Given the description of an element on the screen output the (x, y) to click on. 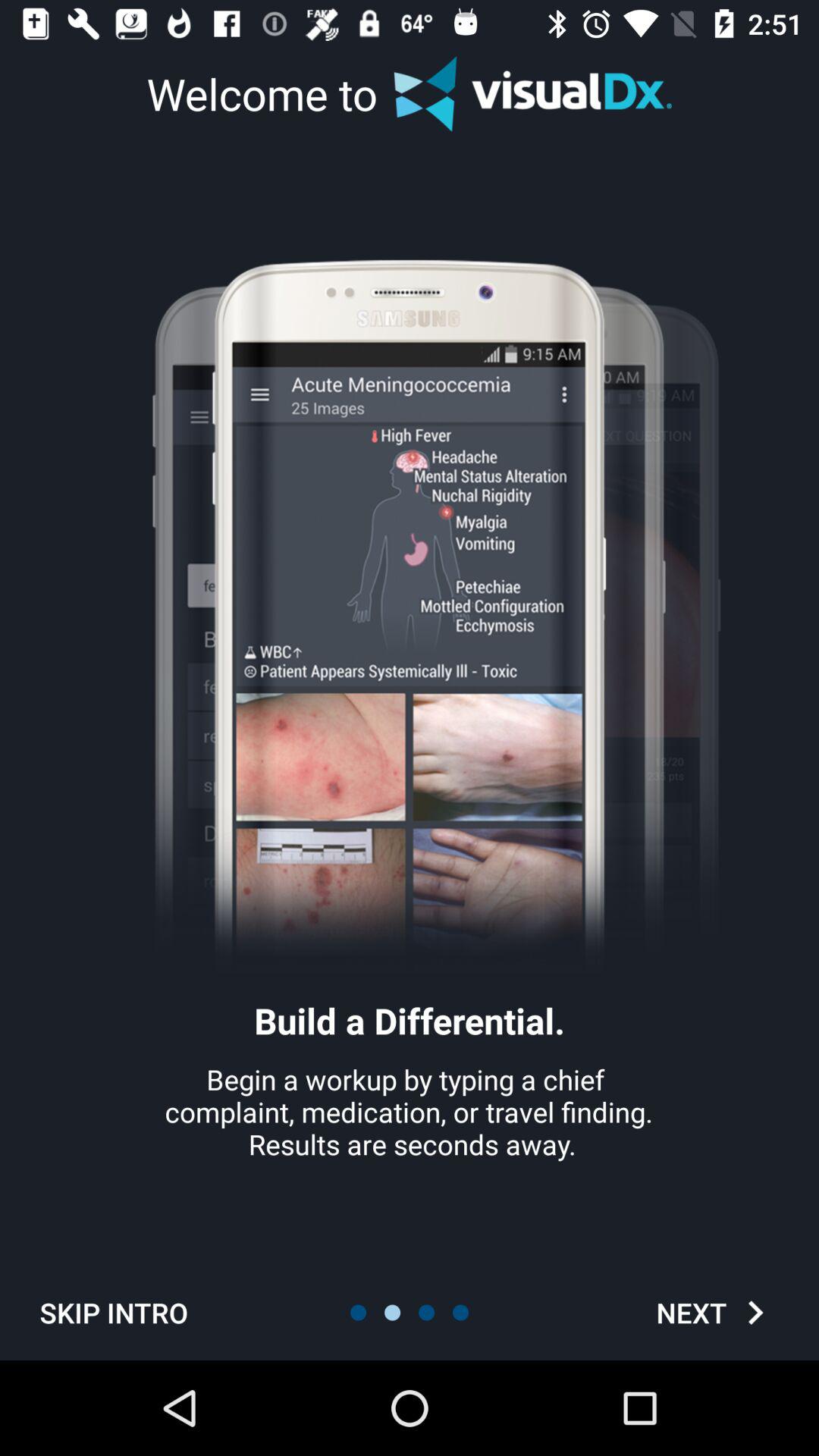
tap skip intro icon (113, 1312)
